Given the description of an element on the screen output the (x, y) to click on. 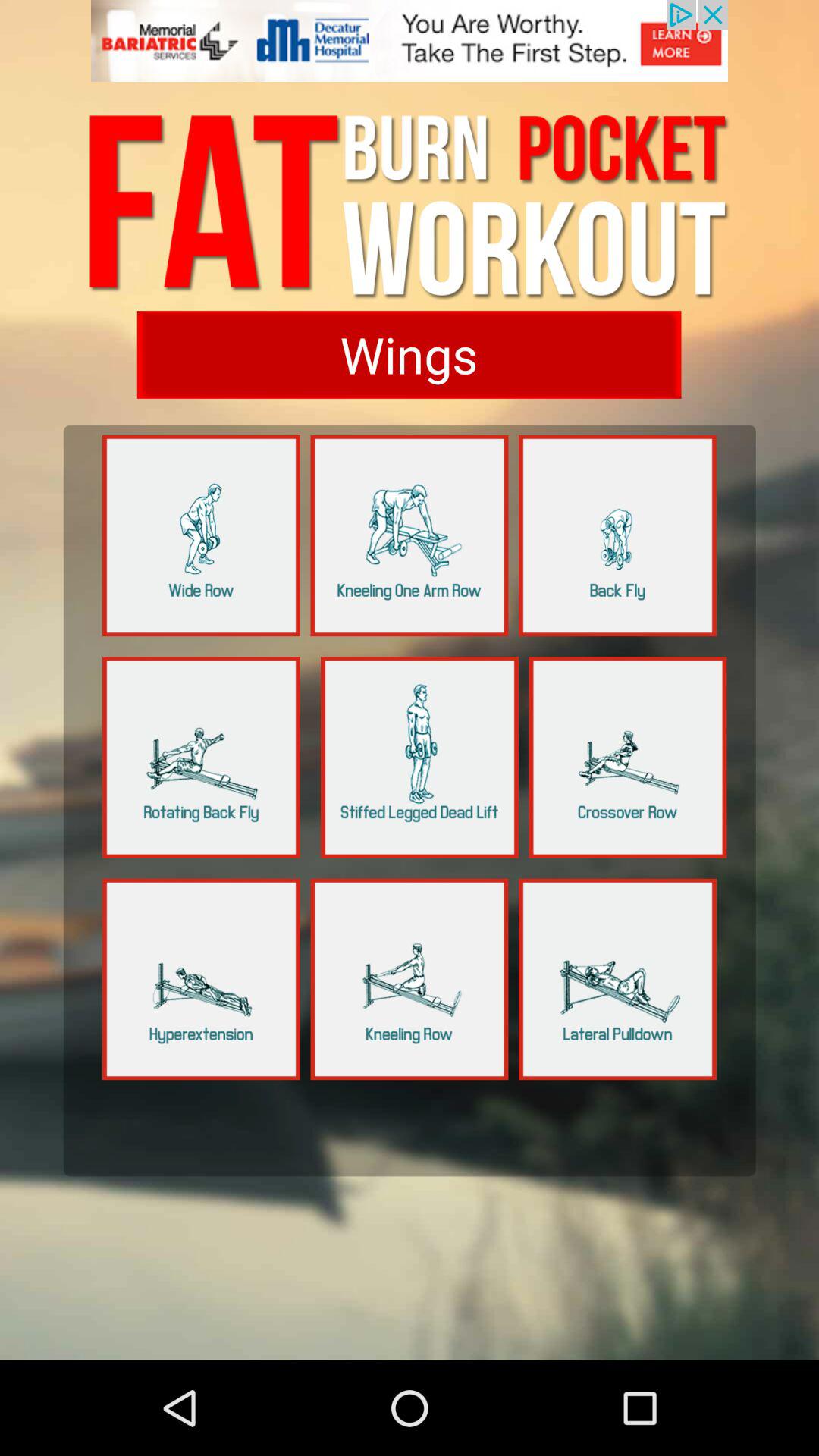
open page (617, 979)
